Given the description of an element on the screen output the (x, y) to click on. 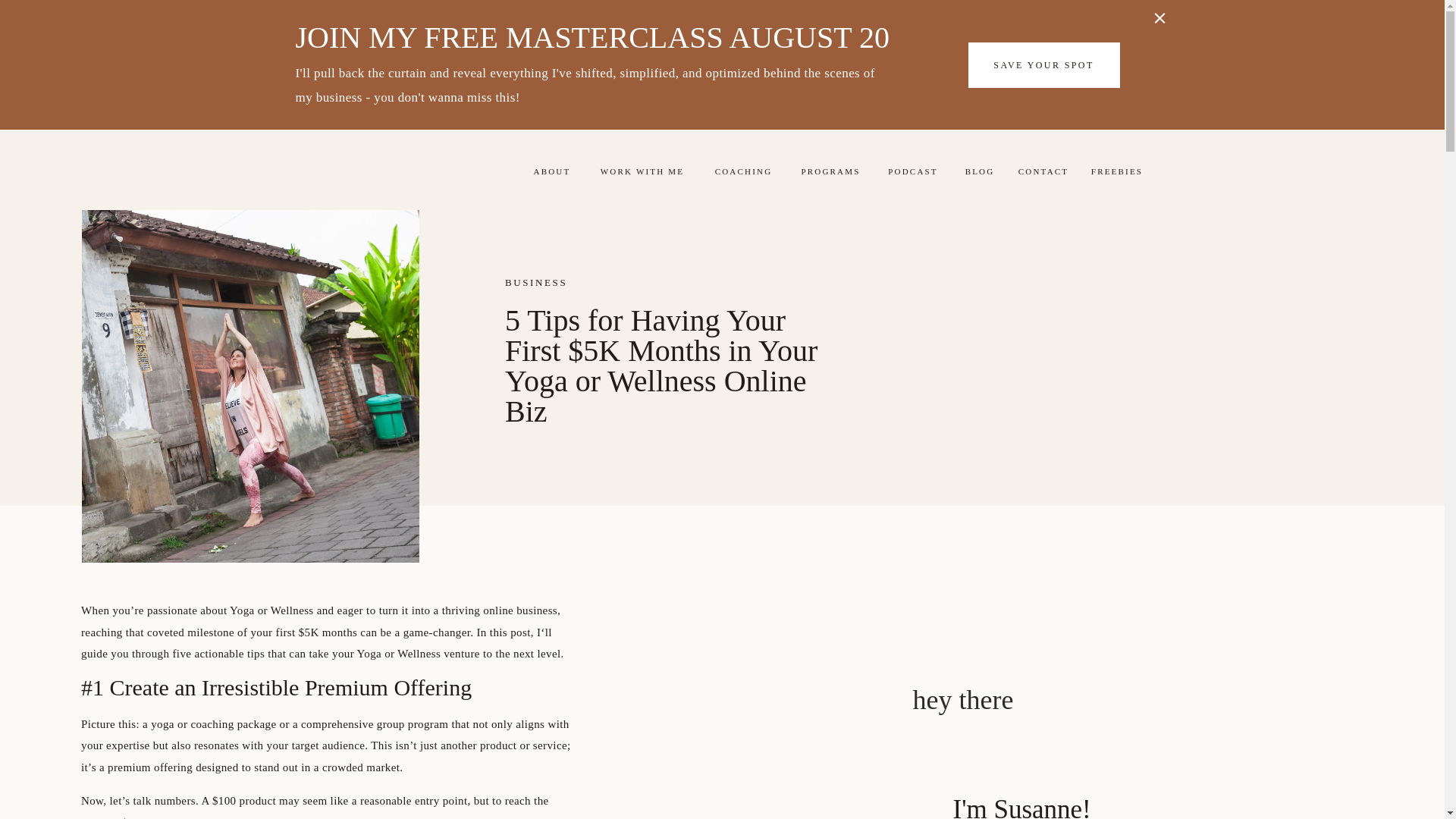
ABOUT (550, 171)
BLOG (979, 173)
FREEBIES (1116, 173)
PROGRAMS (831, 171)
SAVE YOUR SPOT (1042, 66)
WORK WITH ME (642, 171)
PODCAST (911, 173)
CONTACT (1043, 173)
COACHING (743, 171)
BUSINESS (536, 282)
